Given the description of an element on the screen output the (x, y) to click on. 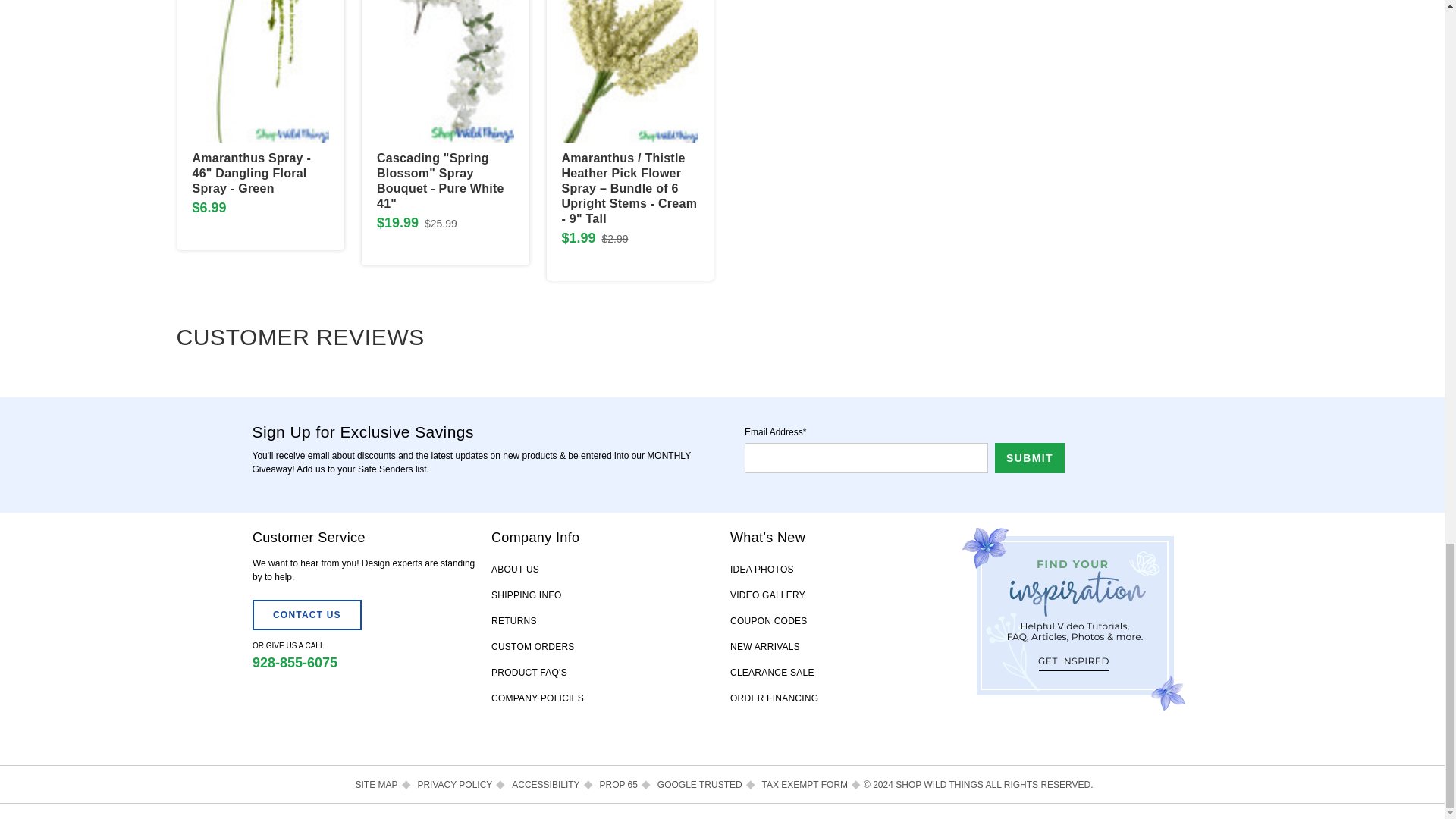
Submit (1029, 458)
